Given the description of an element on the screen output the (x, y) to click on. 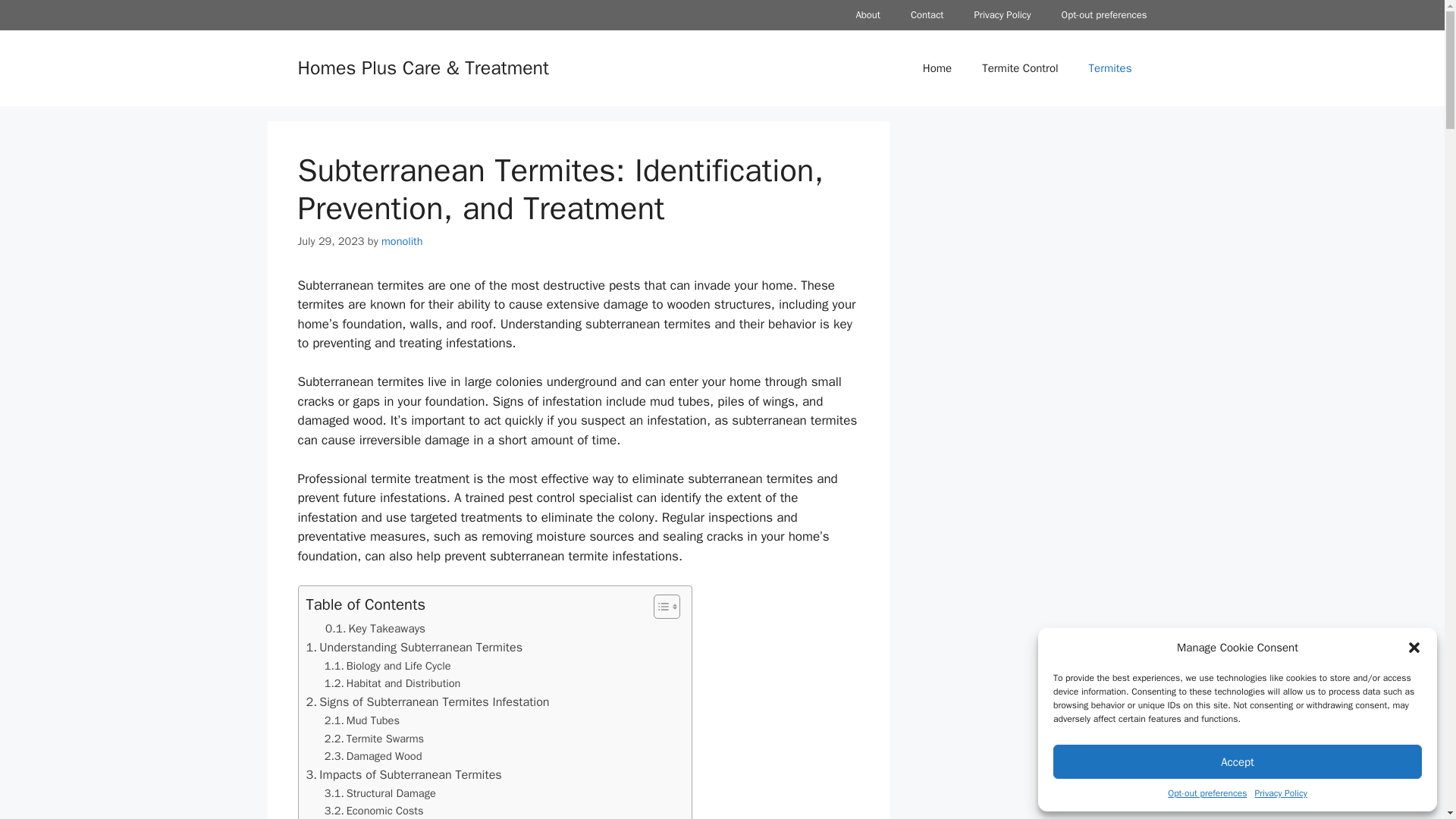
Mud Tubes (361, 720)
Habitat and Distribution (392, 683)
Privacy Policy (1002, 15)
Mud Tubes (361, 720)
Key Takeaways (374, 628)
Impacts of Subterranean Termites (403, 774)
Structural Damage (379, 793)
Economic Costs (373, 810)
Opt-out preferences (1206, 793)
Economic Costs (373, 810)
Impacts of Subterranean Termites (403, 774)
View all posts by monolith (401, 241)
Signs of Subterranean Termites Infestation (427, 701)
Termite Swarms (373, 738)
Contact (927, 15)
